Given the description of an element on the screen output the (x, y) to click on. 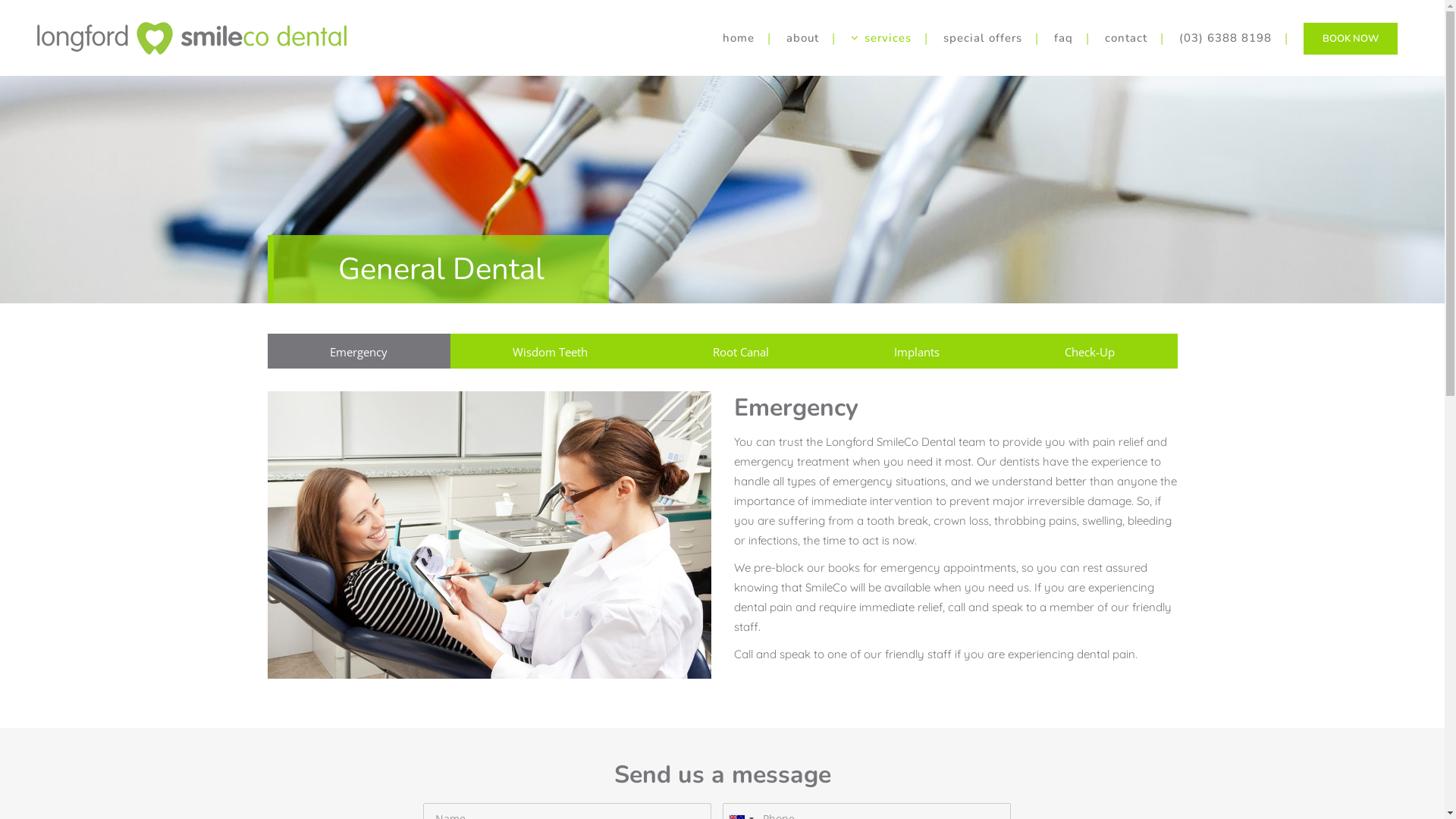
(03) 6388 8198 Element type: text (1225, 37)
Root Canal Element type: text (740, 350)
Emergency Element type: text (357, 350)
special offers Element type: text (982, 37)
BOOK NOW Element type: text (1350, 38)
contact Element type: text (1126, 37)
home Element type: text (738, 37)
emergency Element type: hover (488, 534)
Wisdom Teeth Element type: text (550, 350)
services Element type: text (880, 37)
BOOK NOW Element type: text (1350, 37)
faq Element type: text (1063, 37)
Implants Element type: text (916, 350)
about Element type: text (802, 37)
Check-Up Element type: text (1089, 350)
